Given the description of an element on the screen output the (x, y) to click on. 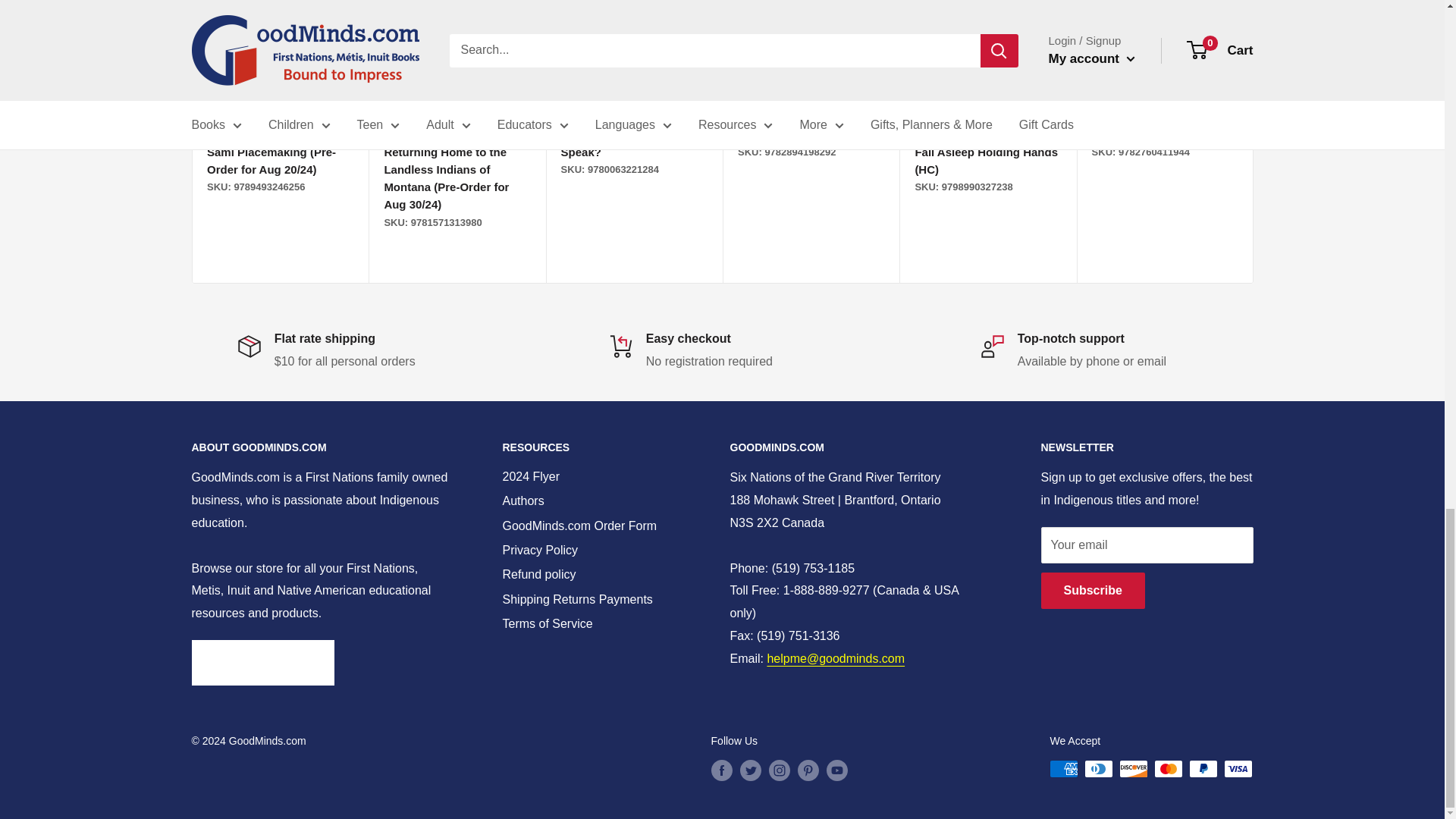
Email Us: (835, 658)
